Given the description of an element on the screen output the (x, y) to click on. 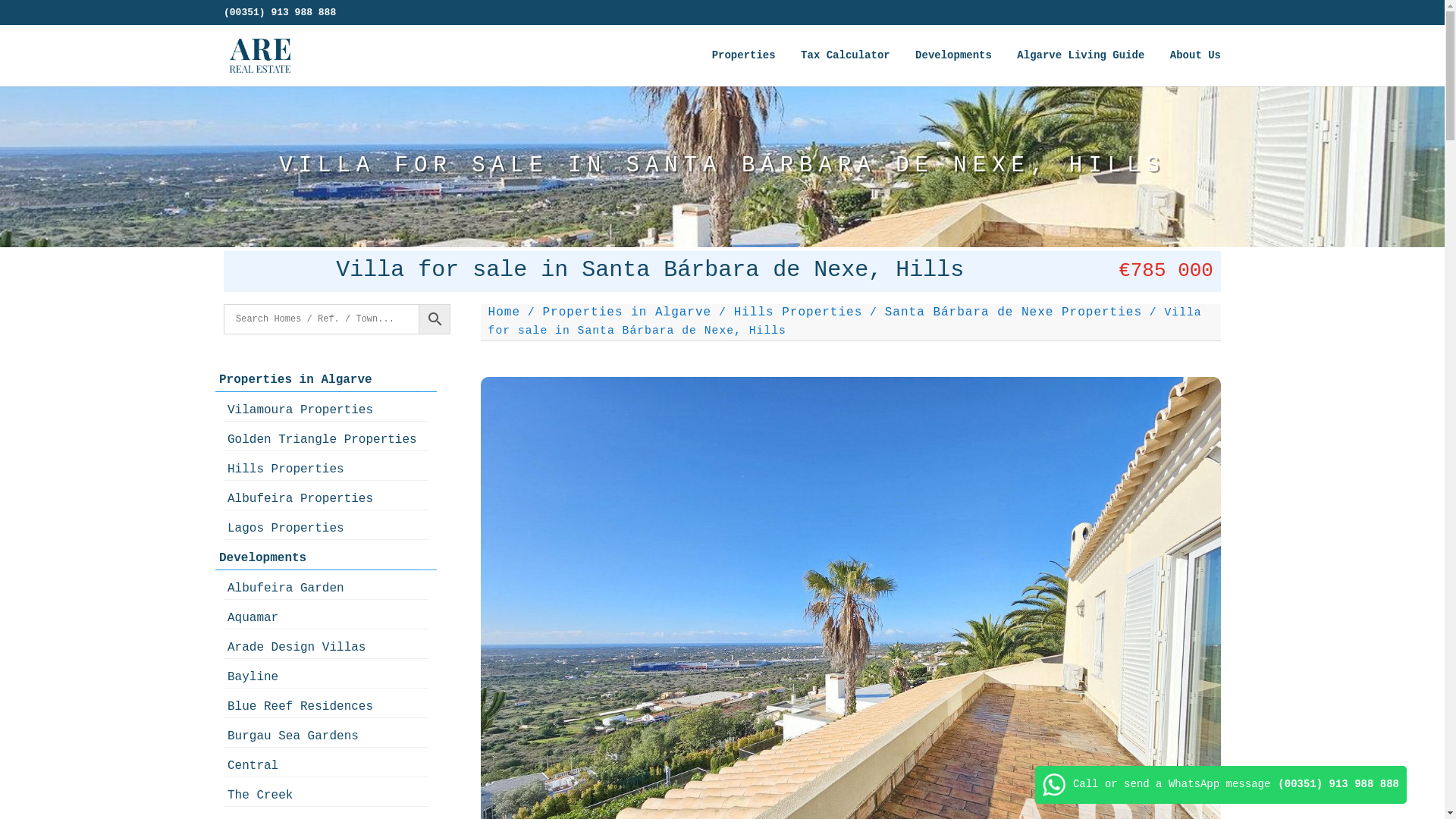
Aquamar (326, 617)
Properties in Algarve (627, 312)
About Us (1195, 67)
The Creek (326, 794)
Burgau Sea Gardens (326, 735)
Albufeira Garden (326, 587)
Hills Properties (798, 312)
Developments (317, 557)
Tax Calculator (844, 67)
Properties (743, 67)
Home (503, 312)
Developments (953, 67)
Hills Properties (326, 468)
Golden Triangle Properties (326, 439)
Properties in Algarve (317, 379)
